Given the description of an element on the screen output the (x, y) to click on. 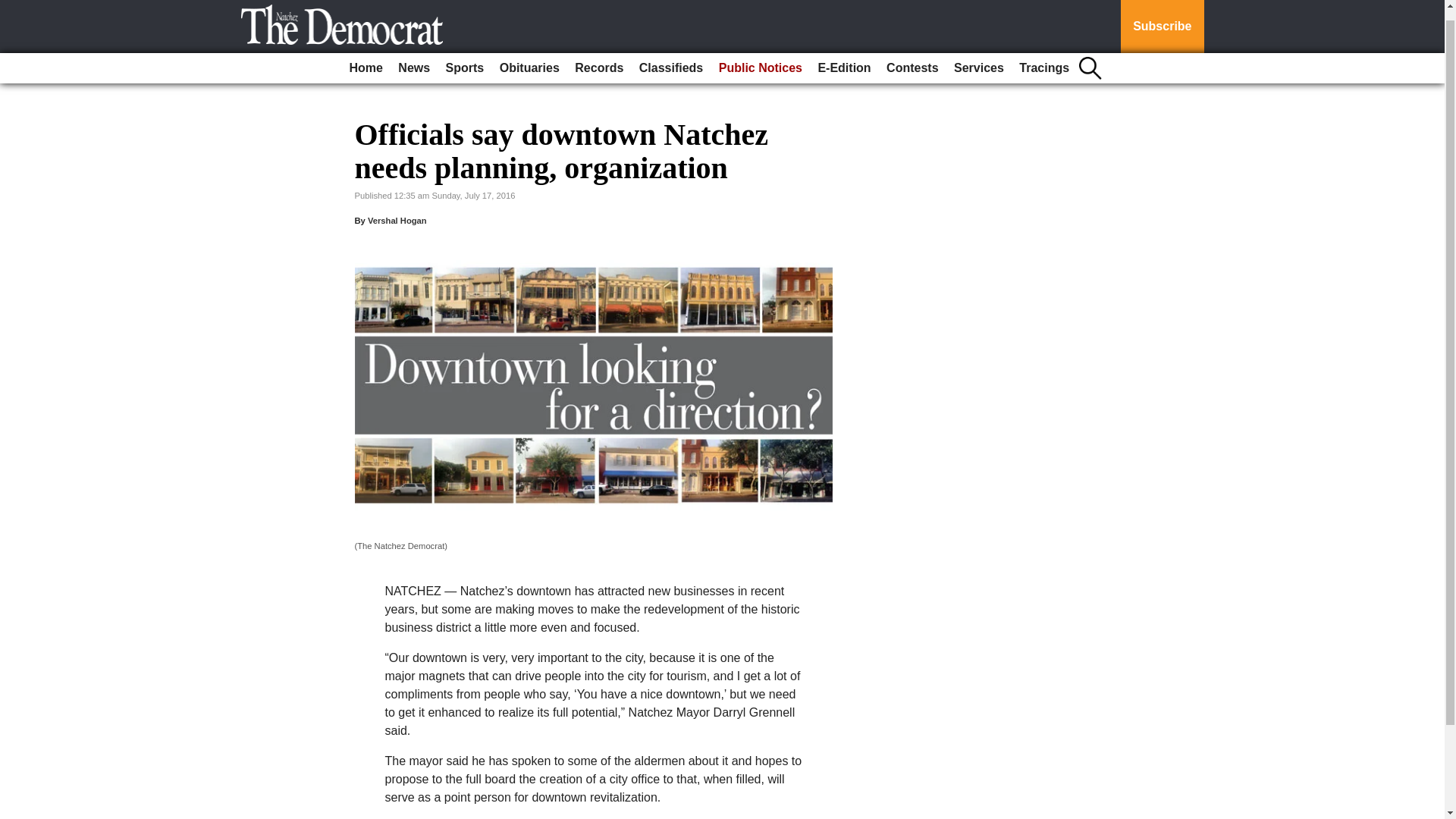
Obituaries (529, 56)
E-Edition (843, 56)
Contests (911, 56)
Subscribe (1162, 20)
Services (978, 56)
Go (13, 3)
Sports (464, 56)
Public Notices (760, 56)
Records (598, 56)
Home (365, 56)
